Given the description of an element on the screen output the (x, y) to click on. 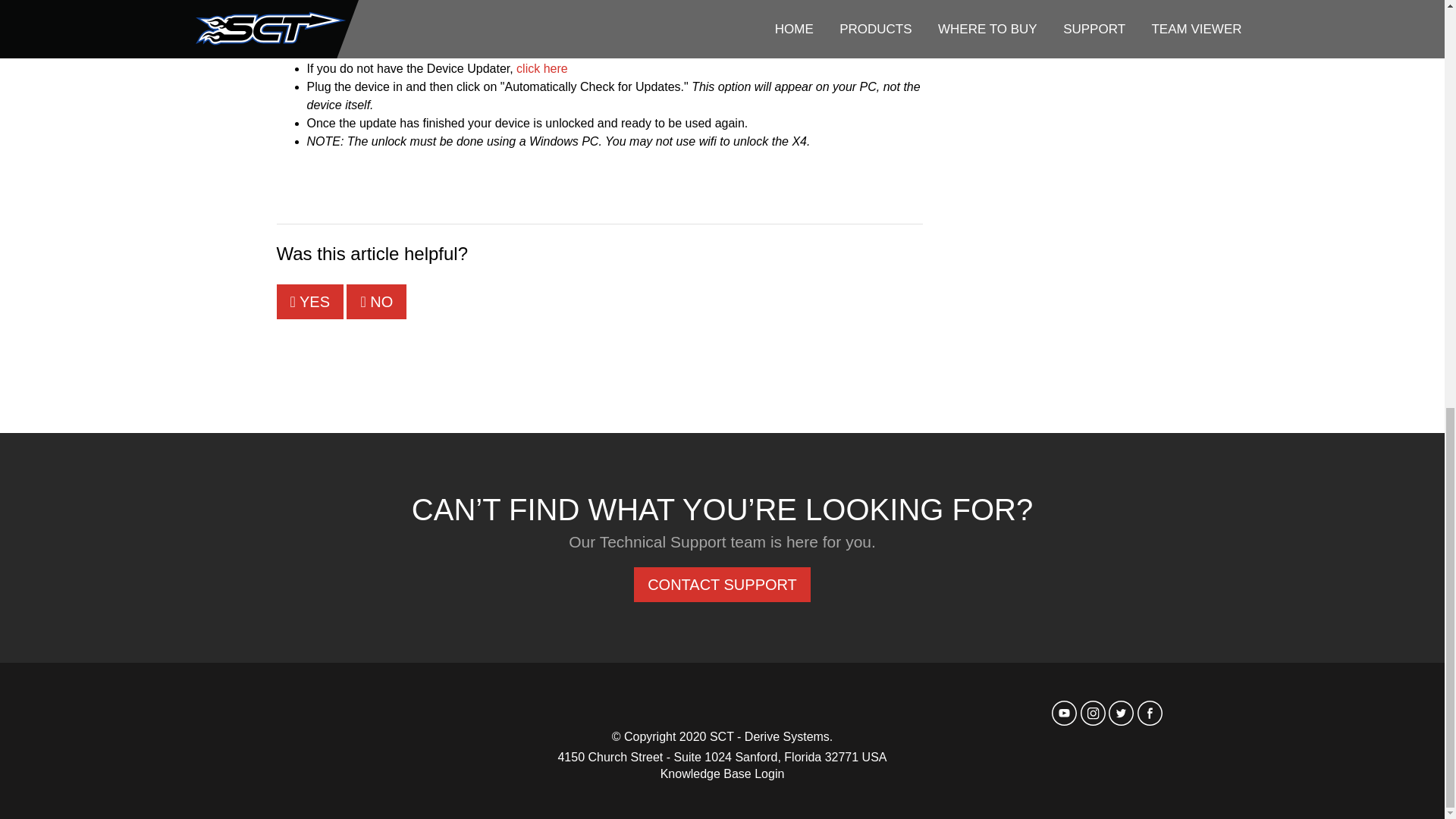
CONTACT SUPPORT (721, 584)
YES (309, 301)
Bully Dog Customer Portal (1055, 37)
Knowledge Base Login (722, 773)
Device Updater (541, 68)
 click here  (541, 68)
Instructions for '20-'21 Ford 6.7L Powerstroke Tuning (1055, 13)
NO (376, 301)
